Given the description of an element on the screen output the (x, y) to click on. 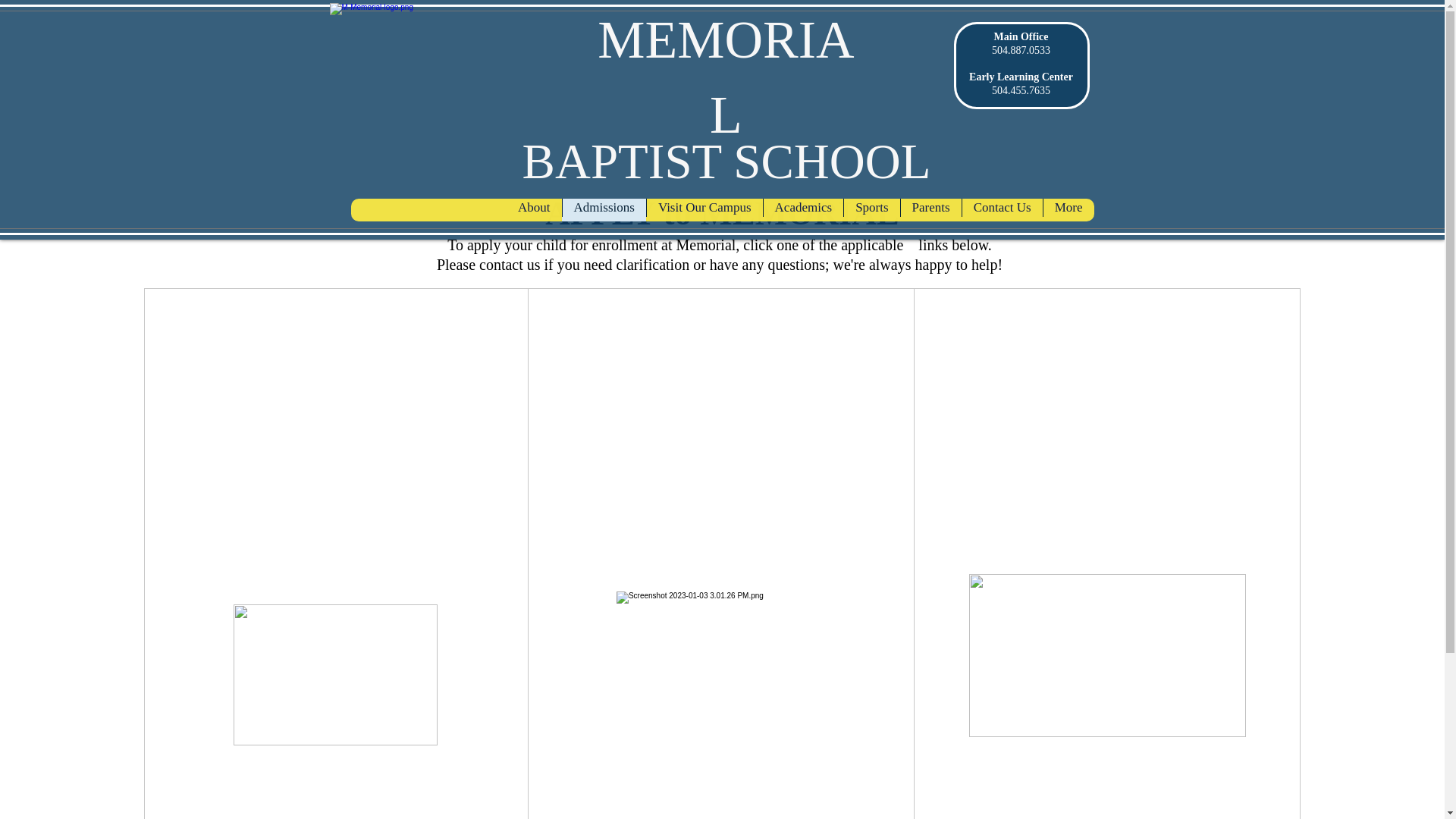
BAPTIST SCHOOL (726, 161)
Sports (871, 210)
About (534, 210)
Contact Us (1001, 210)
MEMORIAL (724, 77)
Academics (803, 210)
Admissions (604, 210)
Visit Our Campus (704, 210)
Parents (929, 210)
